Given the description of an element on the screen output the (x, y) to click on. 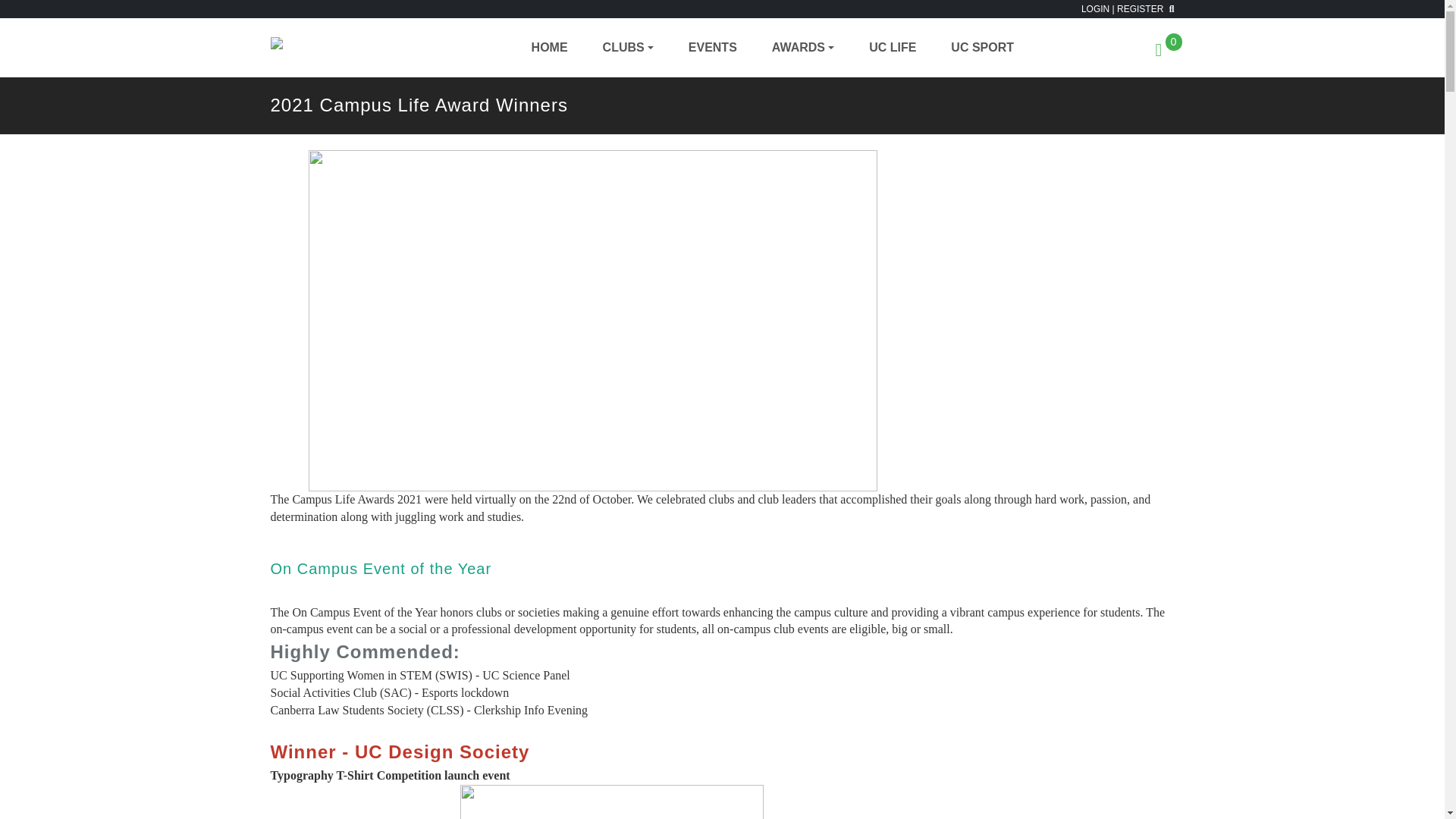
HOME (549, 47)
EVENTS (713, 47)
REGISTER (1139, 9)
0 (1165, 50)
CLUBS (627, 47)
UC LIFE (893, 47)
AWARDS (802, 47)
LOGIN (1095, 9)
UC SPORT (982, 47)
